Given the description of an element on the screen output the (x, y) to click on. 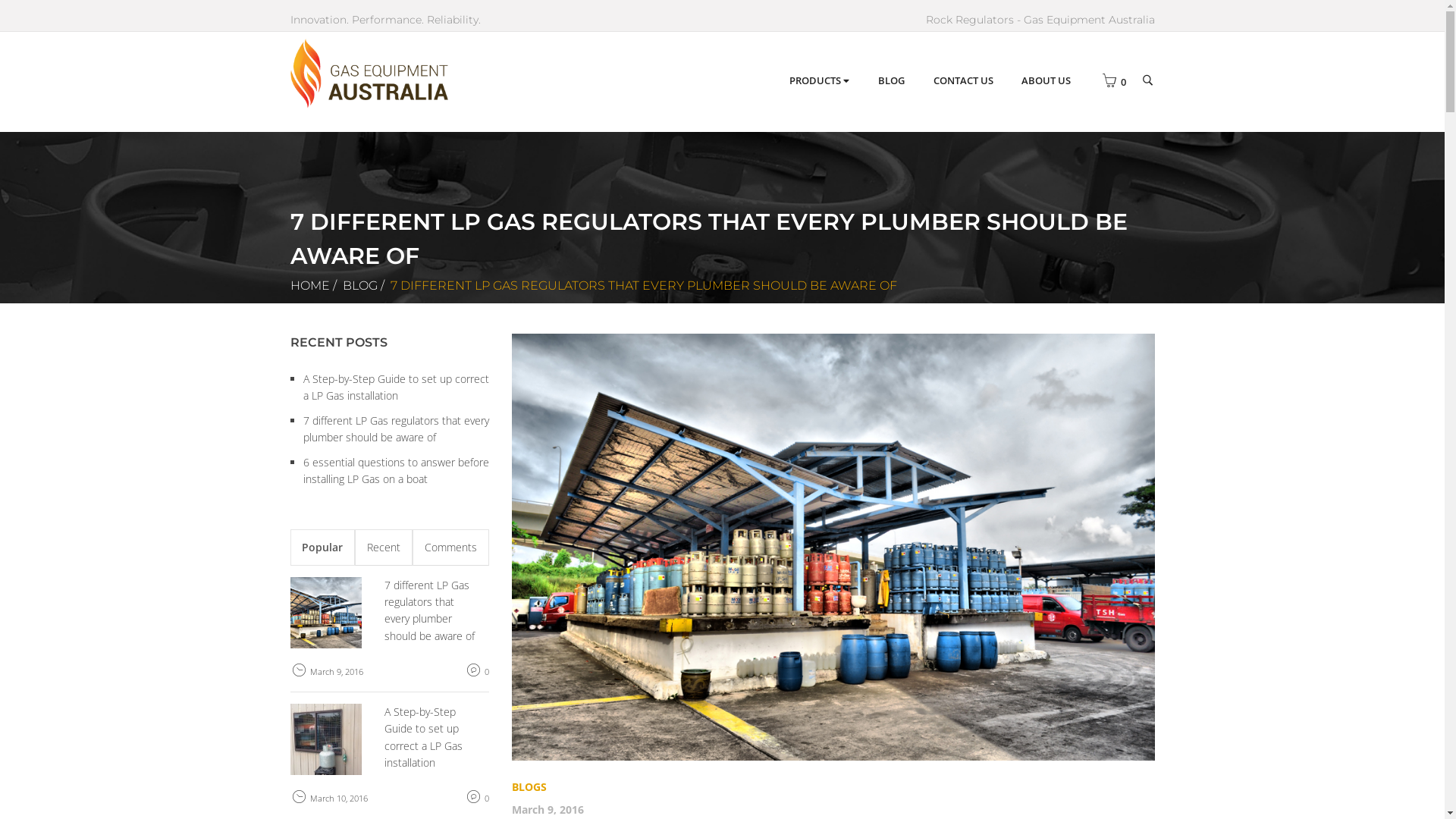
Comments Element type: text (450, 546)
ABOUT US Element type: text (1046, 81)
Recent Element type: text (383, 546)
BLOGS Element type: text (528, 786)
PRODUCTS Element type: text (819, 81)
0 Element type: text (1105, 81)
BLOG Element type: text (891, 81)
A Step-by-Step Guide to set up correct a LP Gas installation Element type: text (423, 736)
Popular Element type: text (321, 546)
HOME Element type: text (309, 285)
A Step-by-Step Guide to set up correct a LP Gas installation Element type: text (396, 386)
CONTACT US Element type: text (963, 81)
BLOG Element type: text (359, 285)
